Given the description of an element on the screen output the (x, y) to click on. 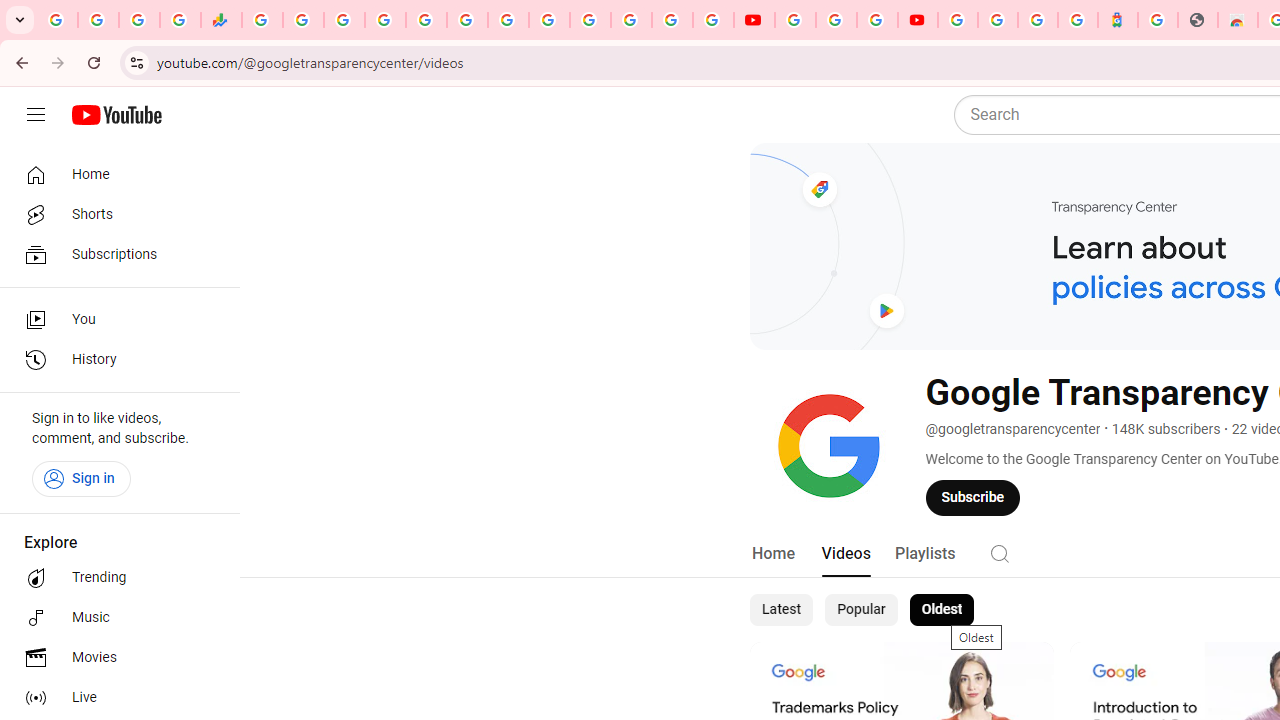
Subscriptions (113, 254)
Create your Google Account (877, 20)
Playlists (924, 553)
Latest (780, 609)
Sign in - Google Accounts (671, 20)
Videos (845, 553)
Content Creator Programs & Opportunities - YouTube Creators (918, 20)
Sign in - Google Accounts (384, 20)
